Given the description of an element on the screen output the (x, y) to click on. 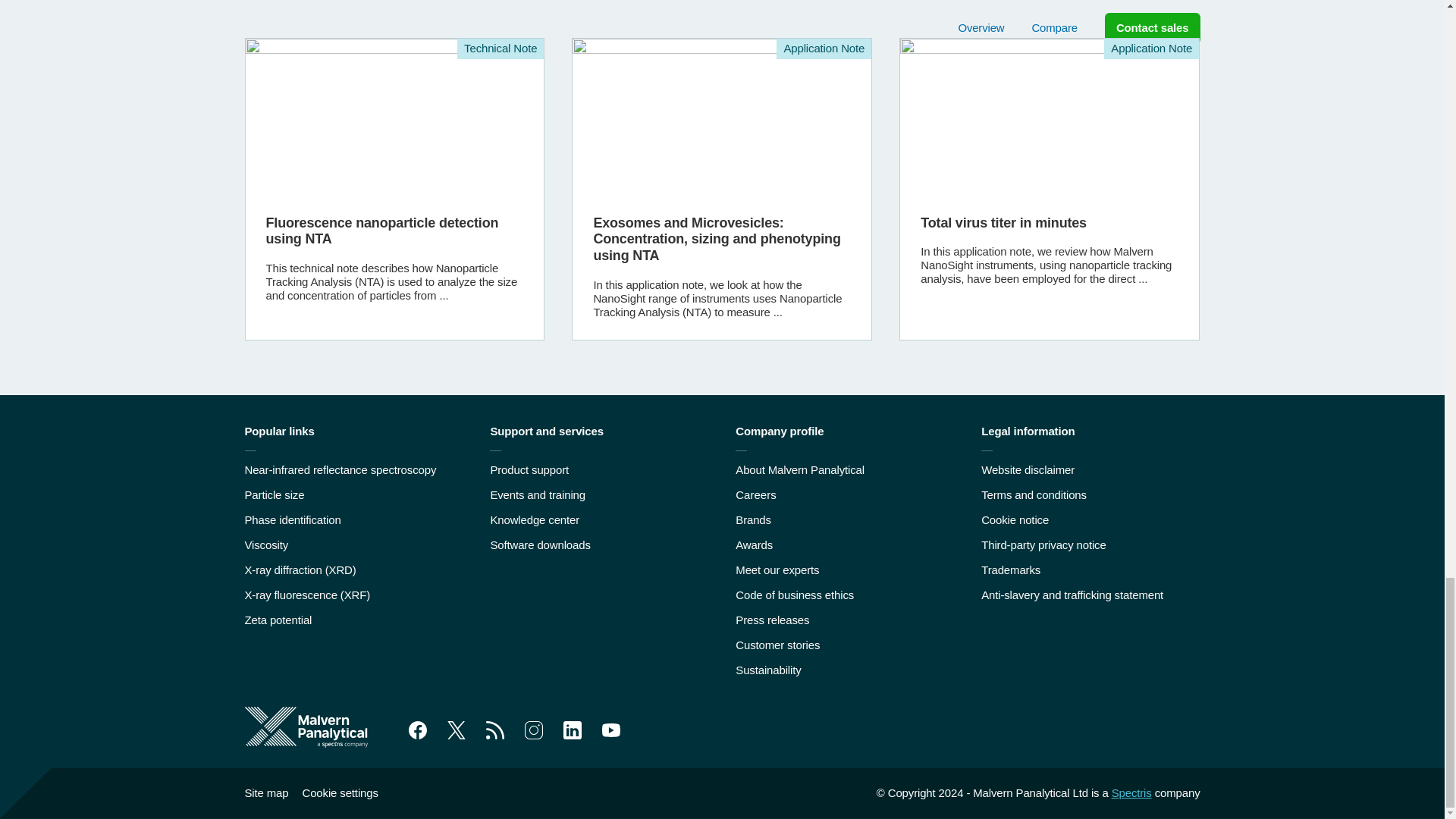
Awards (754, 544)
Phase identification (292, 519)
Zeta potential (277, 619)
Customer stories (777, 644)
Meet our experts (776, 569)
Near-infrared reflectance spectroscopy (339, 469)
Software downloads (539, 544)
Fluorescence nanoparticle detection using NTA (395, 188)
Ethics (794, 594)
Events and training (537, 494)
Total virus titer in minutes (1048, 188)
Brands (753, 519)
Particle size (274, 494)
Near-infrared reflectance spectroscopy (339, 469)
Viscosity (266, 544)
